Given the description of an element on the screen output the (x, y) to click on. 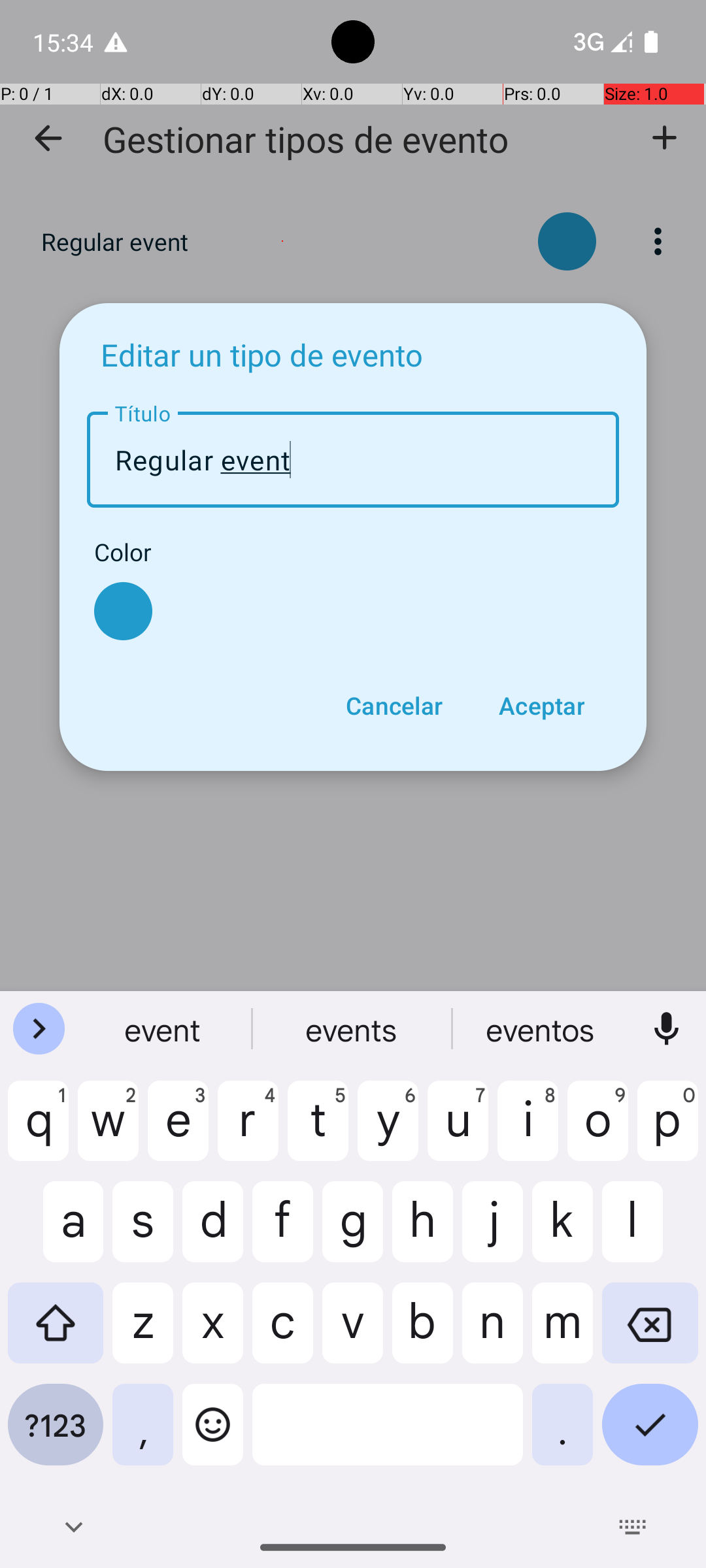
Editar un tipo de evento Element type: android.widget.TextView (261, 354)
Regular event Element type: android.widget.EditText (352, 459)
Cancelar Element type: android.widget.Button (393, 705)
Aceptar Element type: android.widget.Button (541, 705)
event Element type: android.widget.FrameLayout (163, 1028)
events Element type: android.widget.FrameLayout (352, 1028)
eventos Element type: android.widget.FrameLayout (541, 1028)
